Given the description of an element on the screen output the (x, y) to click on. 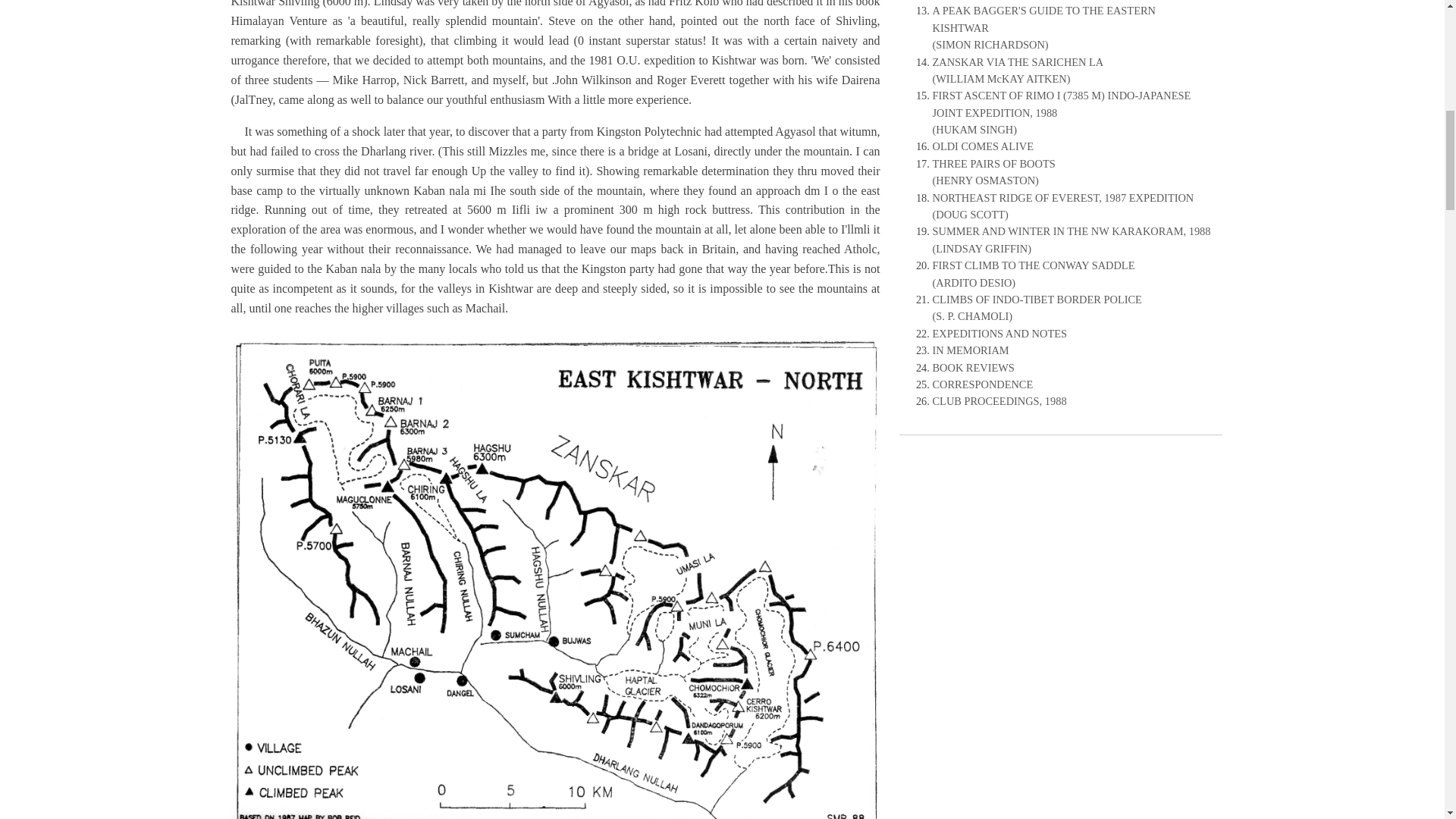
OLDI COMES ALIVE (983, 146)
IN MEMORIAM (971, 349)
CLUB PROCEEDINGS, 1988 (1000, 400)
EXPEDITIONS AND NOTES (1000, 333)
CORRESPONDENCE (983, 384)
BOOK REVIEWS (973, 367)
